Given the description of an element on the screen output the (x, y) to click on. 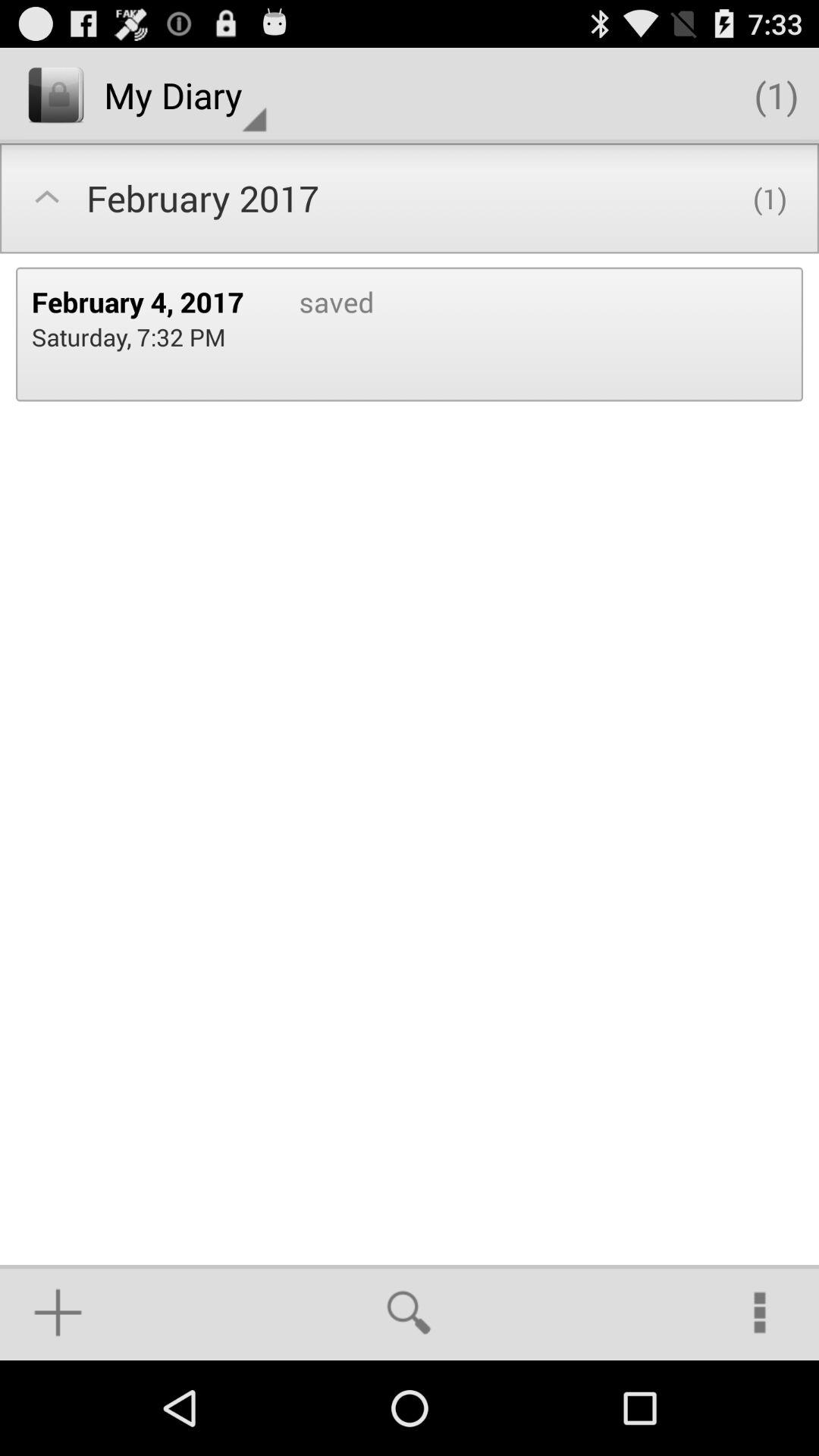
launch the item below the (1) icon (759, 1312)
